Given the description of an element on the screen output the (x, y) to click on. 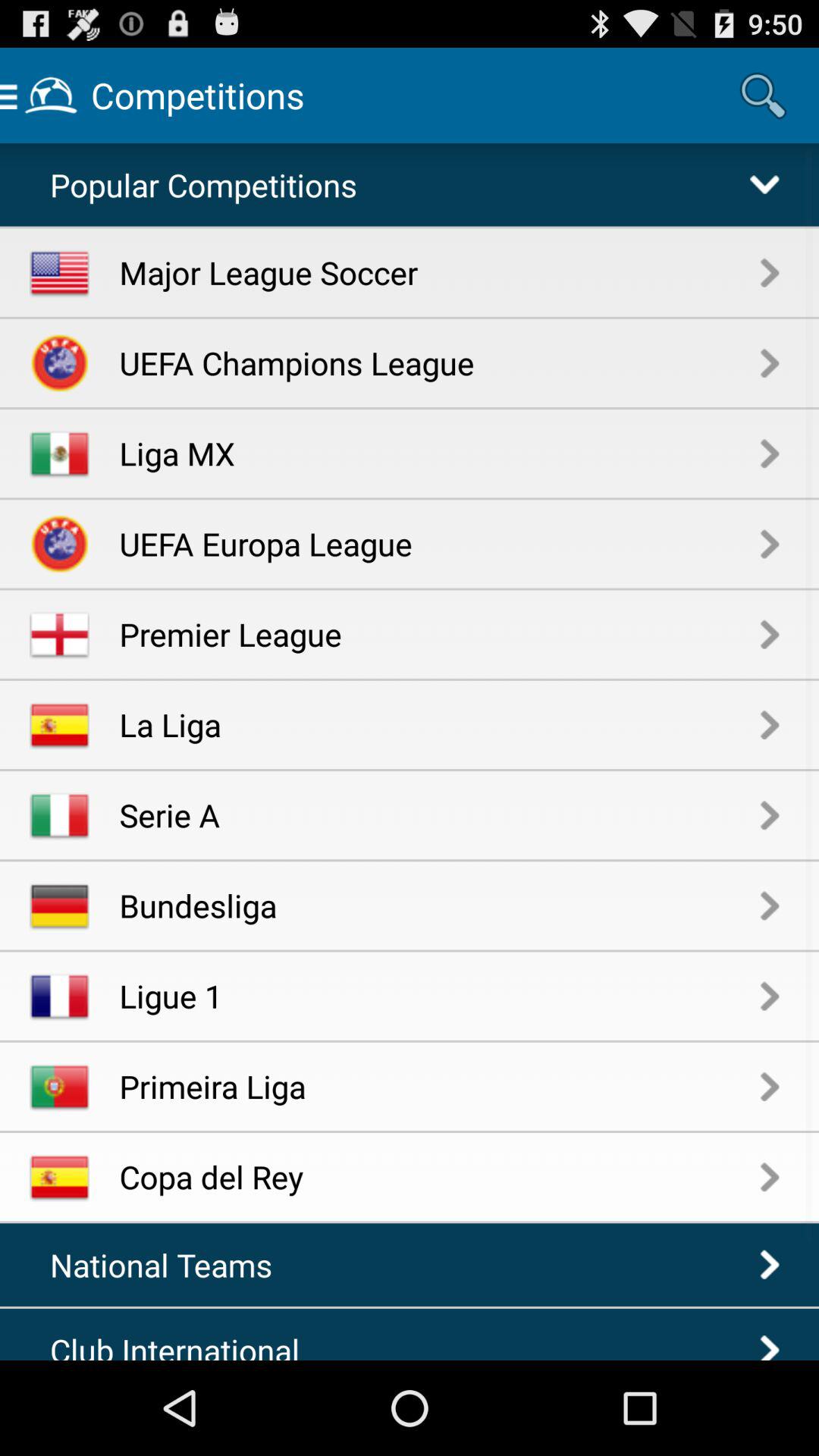
launch item above copa del rey app (439, 1085)
